Given the description of an element on the screen output the (x, y) to click on. 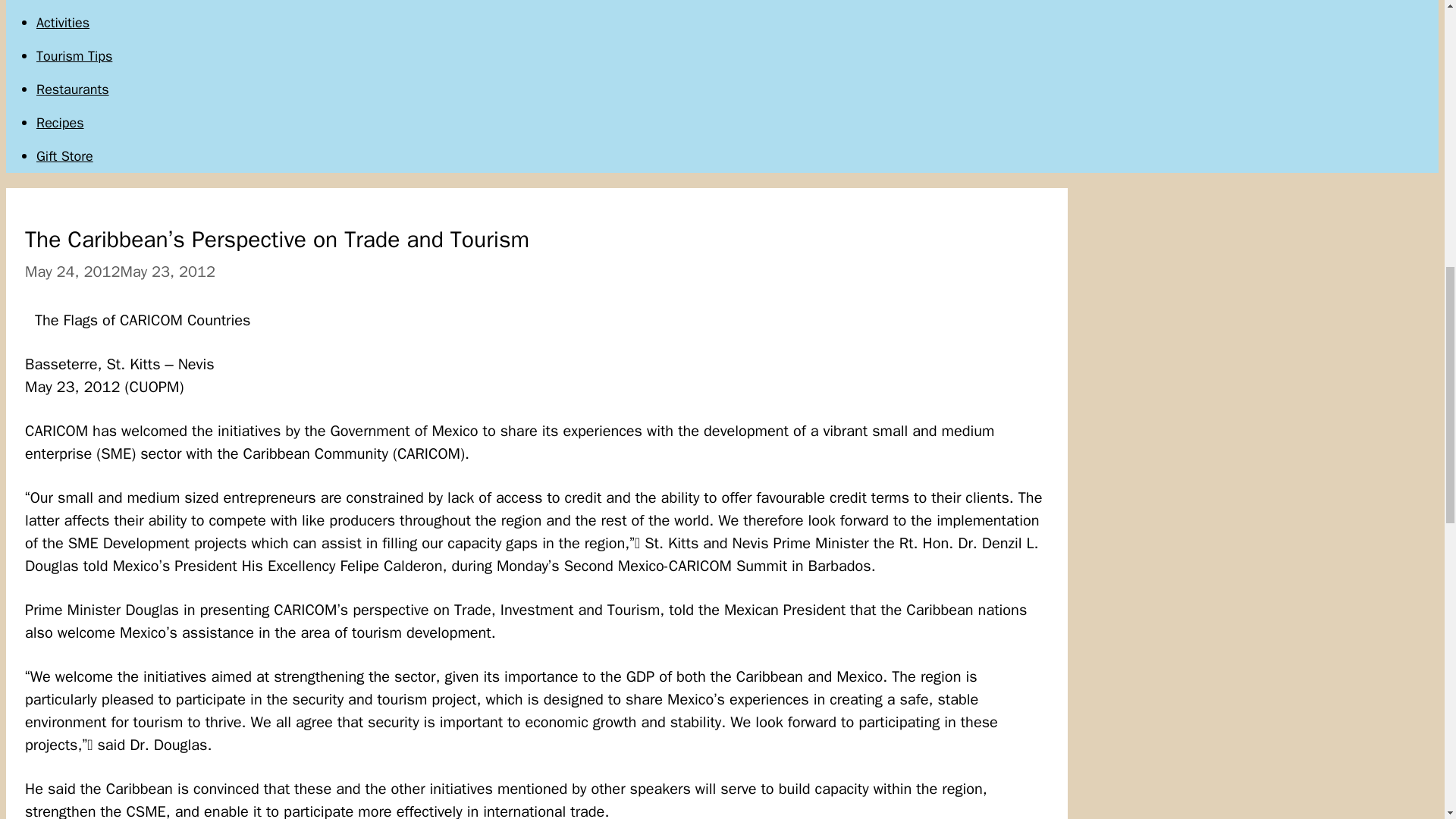
Restaurants (72, 89)
Activities (62, 22)
Recipes (60, 122)
Gift Store (64, 156)
Tourism Tips (74, 55)
